Given the description of an element on the screen output the (x, y) to click on. 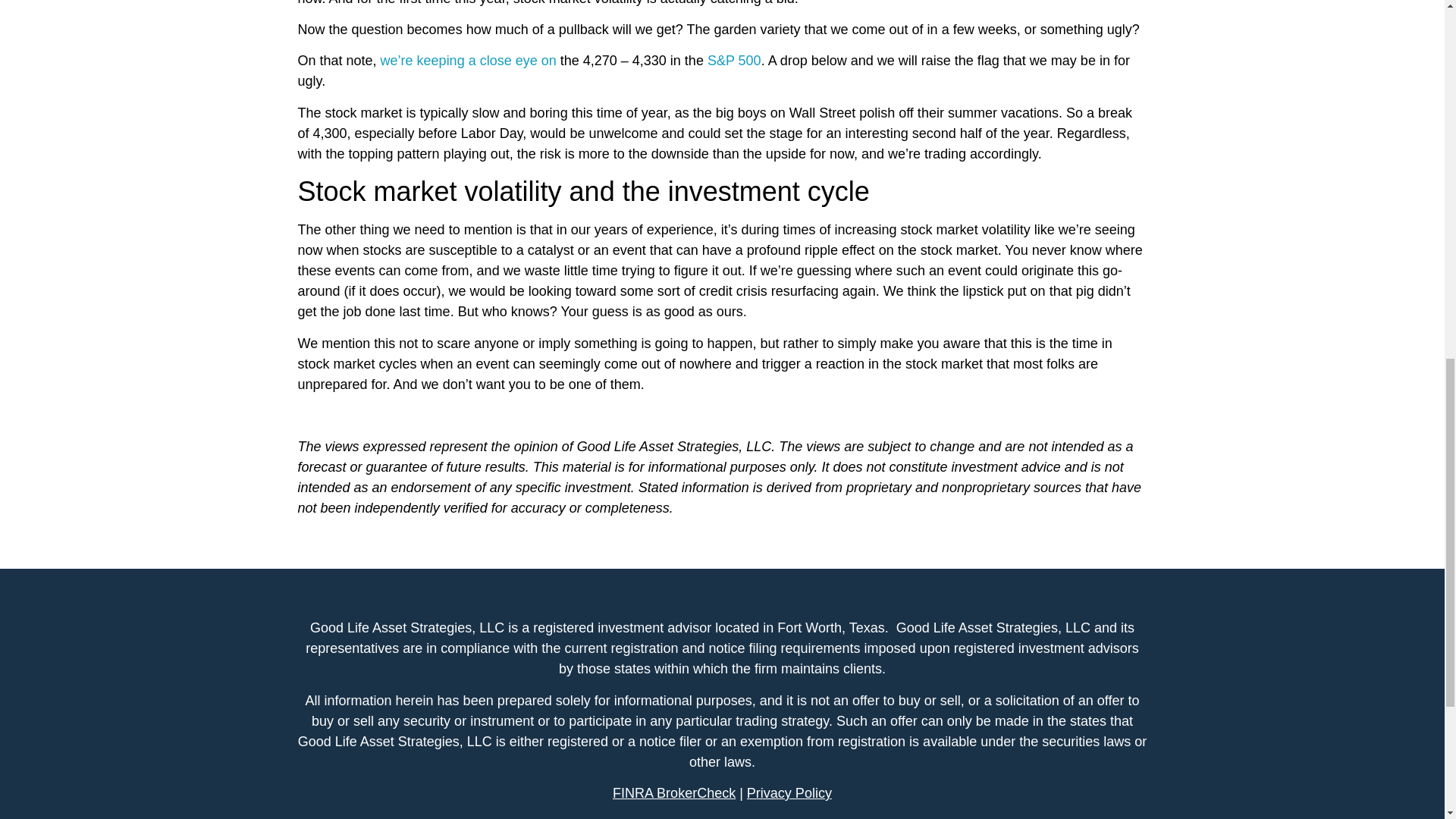
FINRA BrokerCheck (673, 792)
 Privacy Policy (786, 792)
